Given the description of an element on the screen output the (x, y) to click on. 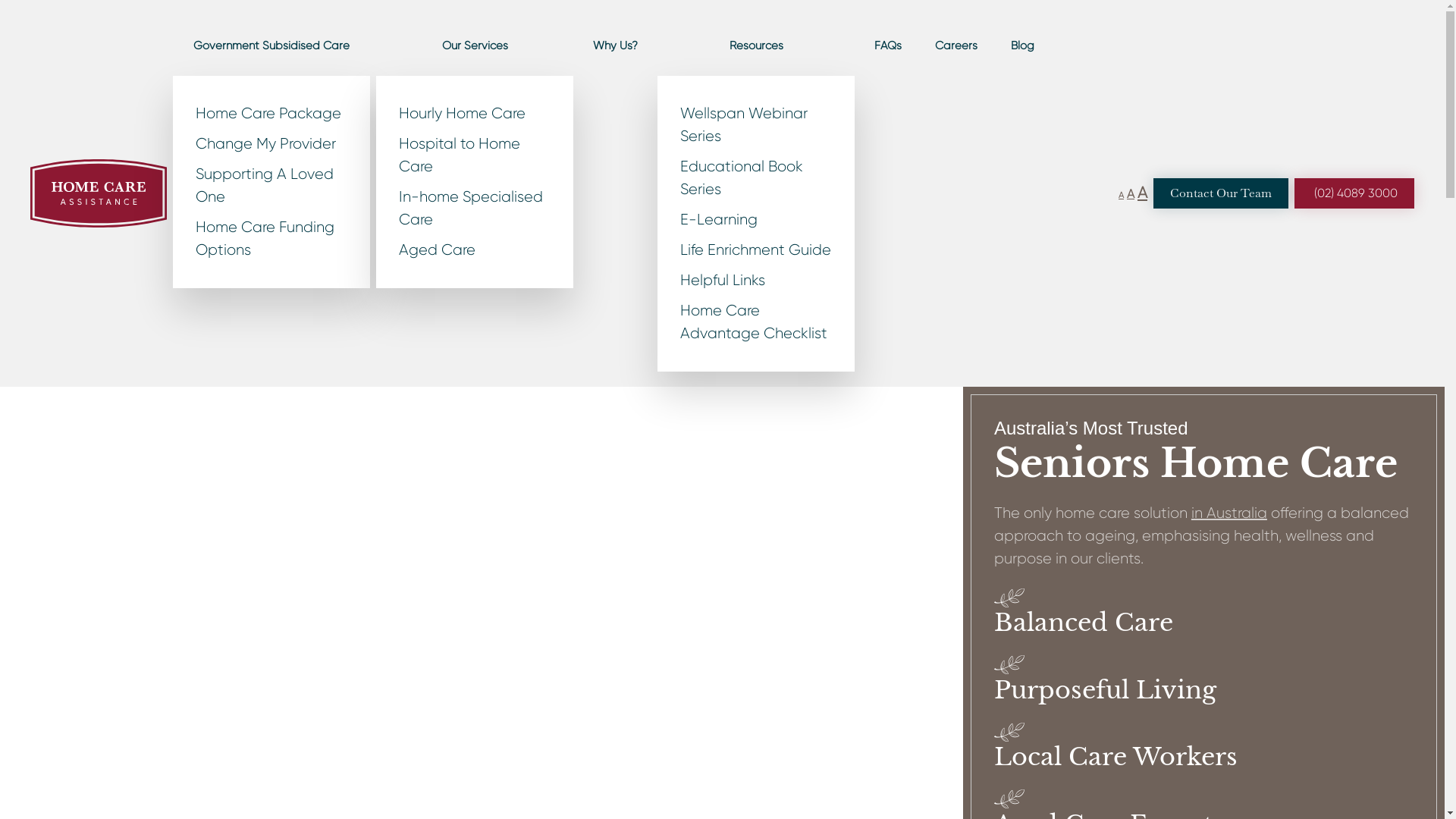
E-Learning Element type: text (755, 219)
Helpful Links Element type: text (755, 280)
A
Increase font size. Element type: text (1142, 192)
Hourly Home Care Element type: text (474, 113)
Hospital to Home Care Element type: text (474, 155)
Our Services Element type: text (474, 45)
FAQs Element type: text (887, 45)
A
Reset font size. Element type: text (1130, 193)
Supporting A Loved One Element type: text (271, 185)
 (02) 4089 3000 Element type: text (1354, 193)
Life Enrichment Guide Element type: text (755, 250)
Why Us? Element type: text (615, 45)
Blog Element type: text (1022, 45)
Educational Book Series Element type: text (755, 177)
Aged Care Element type: text (474, 250)
Government Subsidised Care Element type: text (271, 45)
Contact Our Team Element type: text (1220, 193)
Change My Provider Element type: text (271, 143)
Wellspan Webinar Series Element type: text (755, 124)
Home Care Package Element type: text (271, 113)
Home Care Advantage Checklist Element type: text (755, 321)
Careers Element type: text (956, 45)
Home Care Funding Options Element type: text (271, 238)
A
Decrease font size. Element type: text (1120, 195)
In-home Specialised Care Element type: text (474, 208)
Resources Element type: text (755, 45)
